Given the description of an element on the screen output the (x, y) to click on. 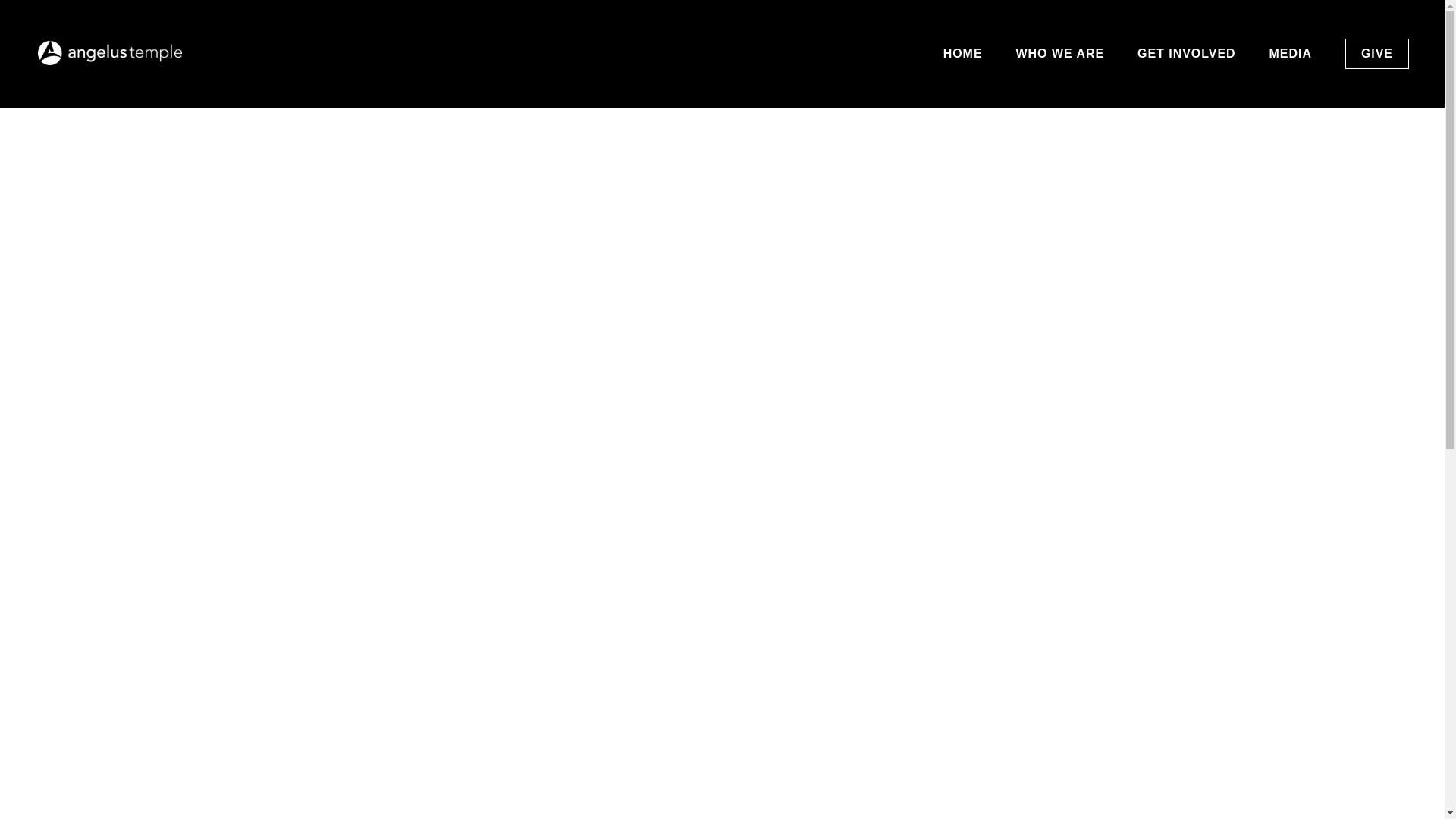
GIVE (1377, 53)
HOME (962, 53)
WHO WE ARE (1060, 53)
GET INVOLVED (1186, 53)
MEDIA (1289, 53)
